Given the description of an element on the screen output the (x, y) to click on. 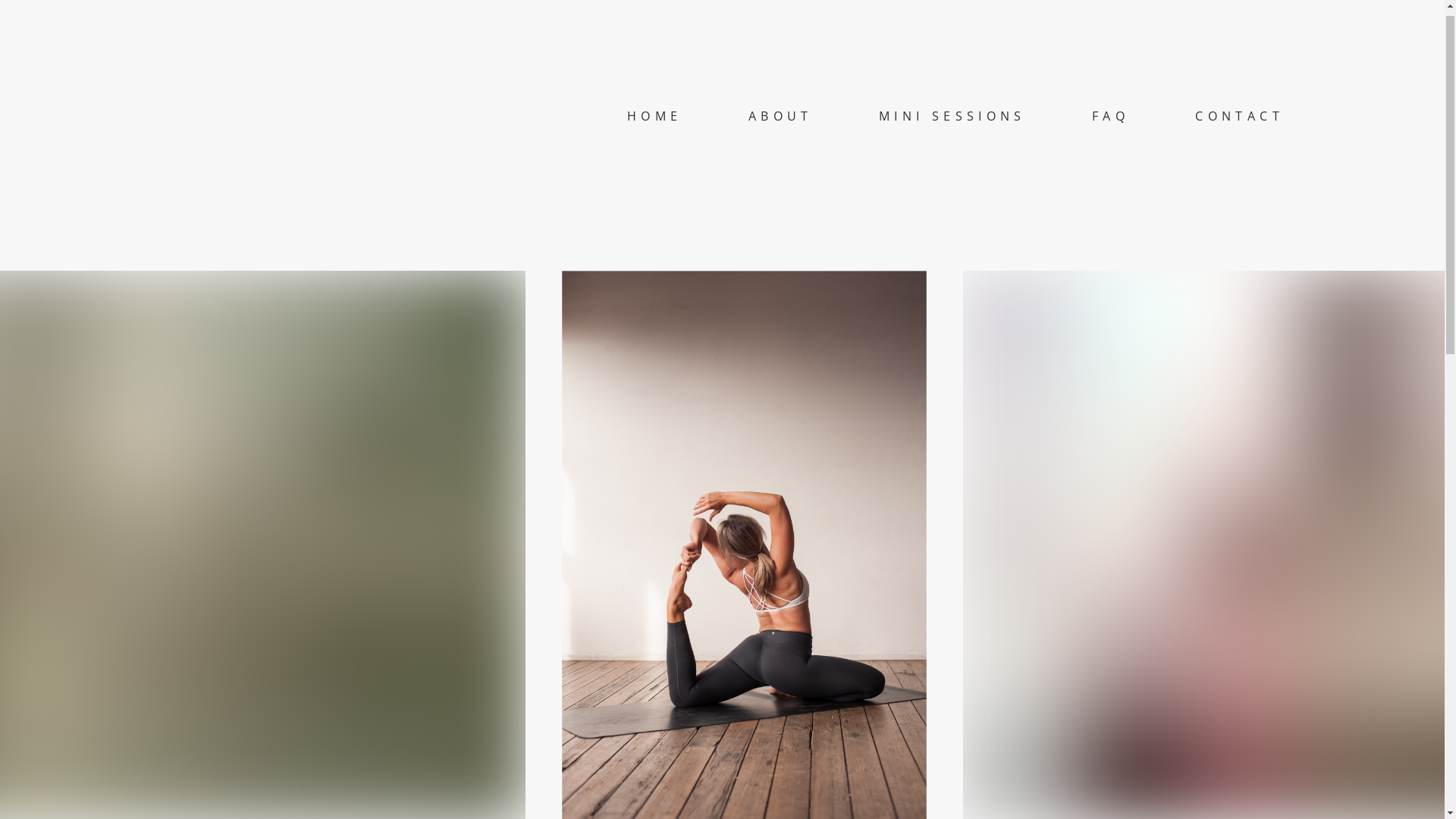
ABOUT Element type: text (780, 127)
HOME Element type: text (654, 127)
MINI SESSIONS Element type: text (952, 127)
FAQ Element type: text (1110, 127)
CONTACT Element type: text (1239, 127)
